Given the description of an element on the screen output the (x, y) to click on. 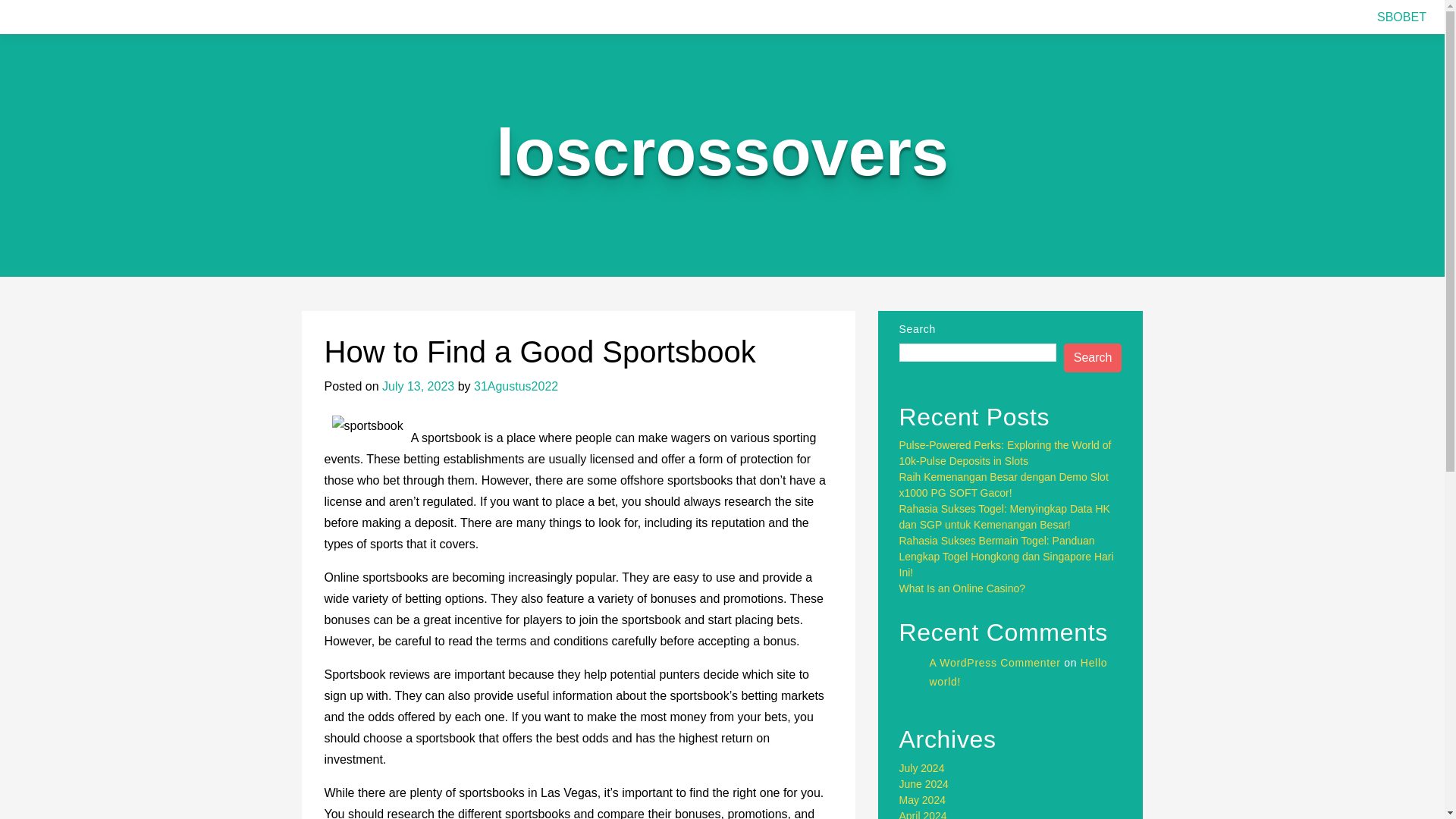
What Is an Online Casino? (962, 588)
May 2024 (921, 799)
A WordPress Commenter (995, 662)
Search (1093, 357)
June 2024 (924, 784)
31Agustus2022 (515, 386)
July 13, 2023 (417, 386)
SBOBET (1401, 16)
Raih Kemenangan Besar dengan Demo Slot x1000 PG SOFT Gacor! (1003, 484)
SBOBET (1401, 16)
July 2024 (921, 767)
Hello world! (1019, 671)
